Given the description of an element on the screen output the (x, y) to click on. 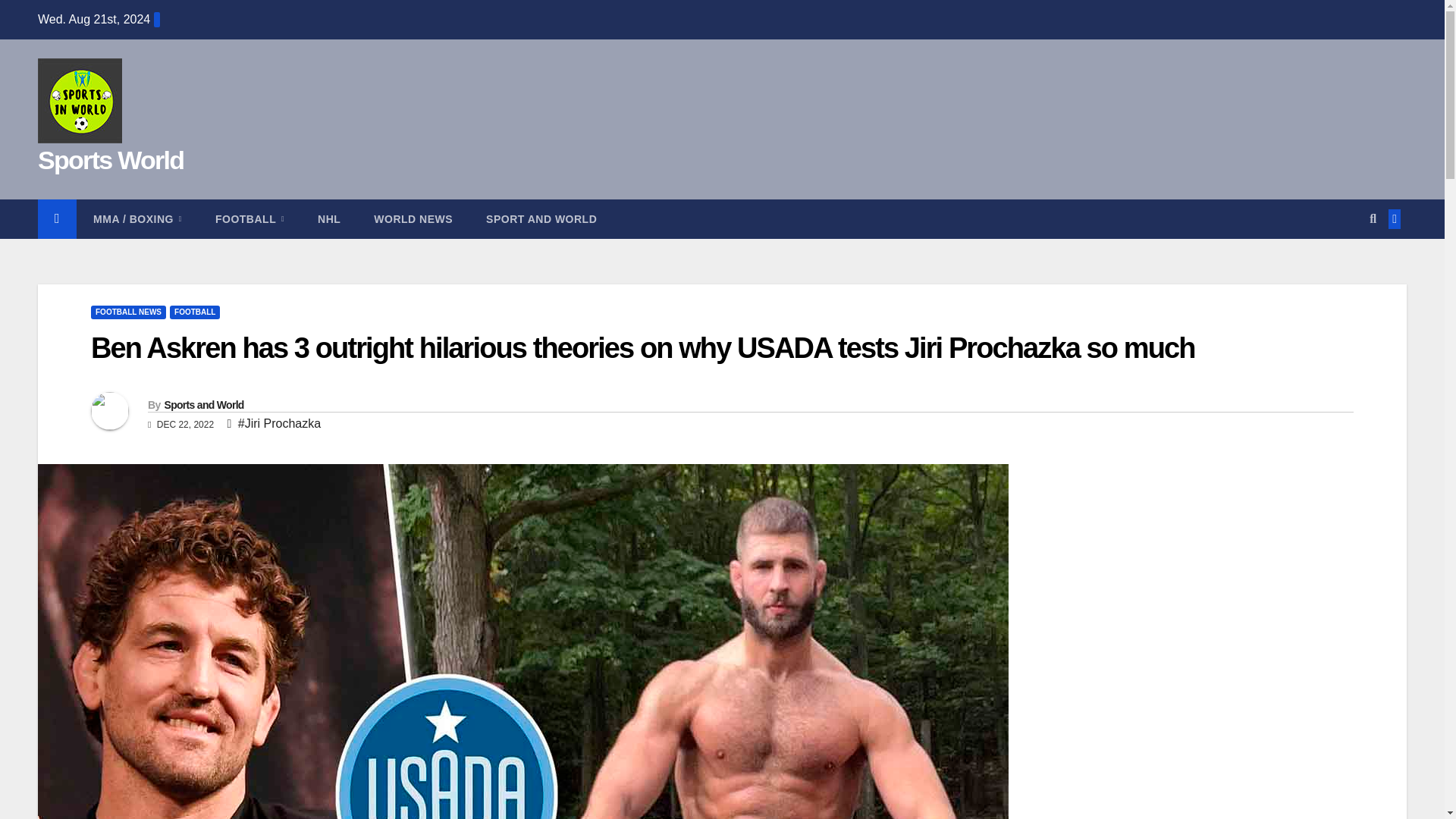
Sports World (110, 159)
FOOTBALL (249, 219)
NHL (328, 219)
Football (249, 219)
FOOTBALL (194, 312)
World news (412, 219)
SPORT AND WORLD (540, 219)
NHL (328, 219)
